Given the description of an element on the screen output the (x, y) to click on. 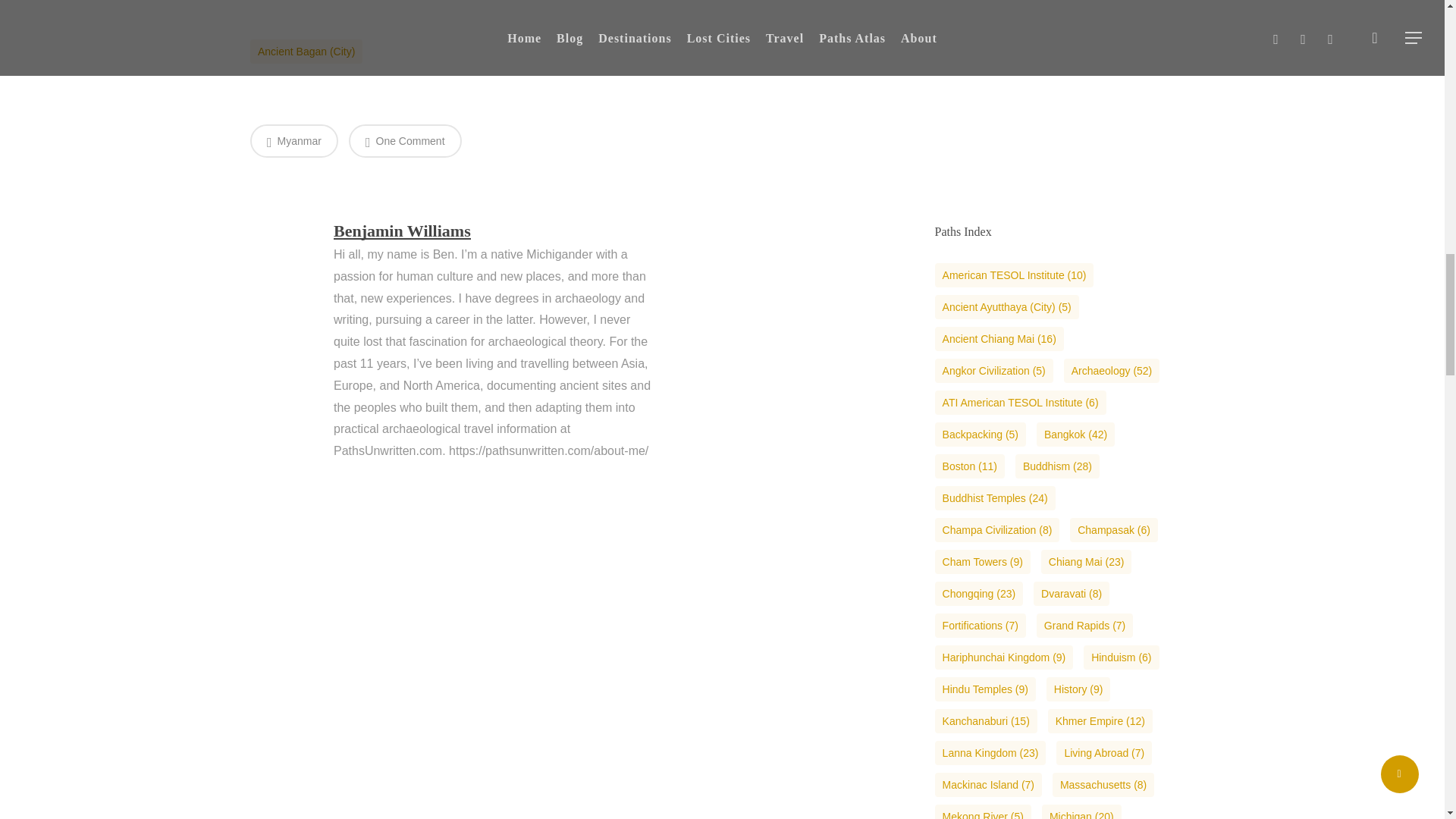
The Chongqing Days: Bomb Shelter Hot Pot (998, 19)
Cultural Profile: Maurya Empire, Uniting Ancient India (1129, 106)
